Given the description of an element on the screen output the (x, y) to click on. 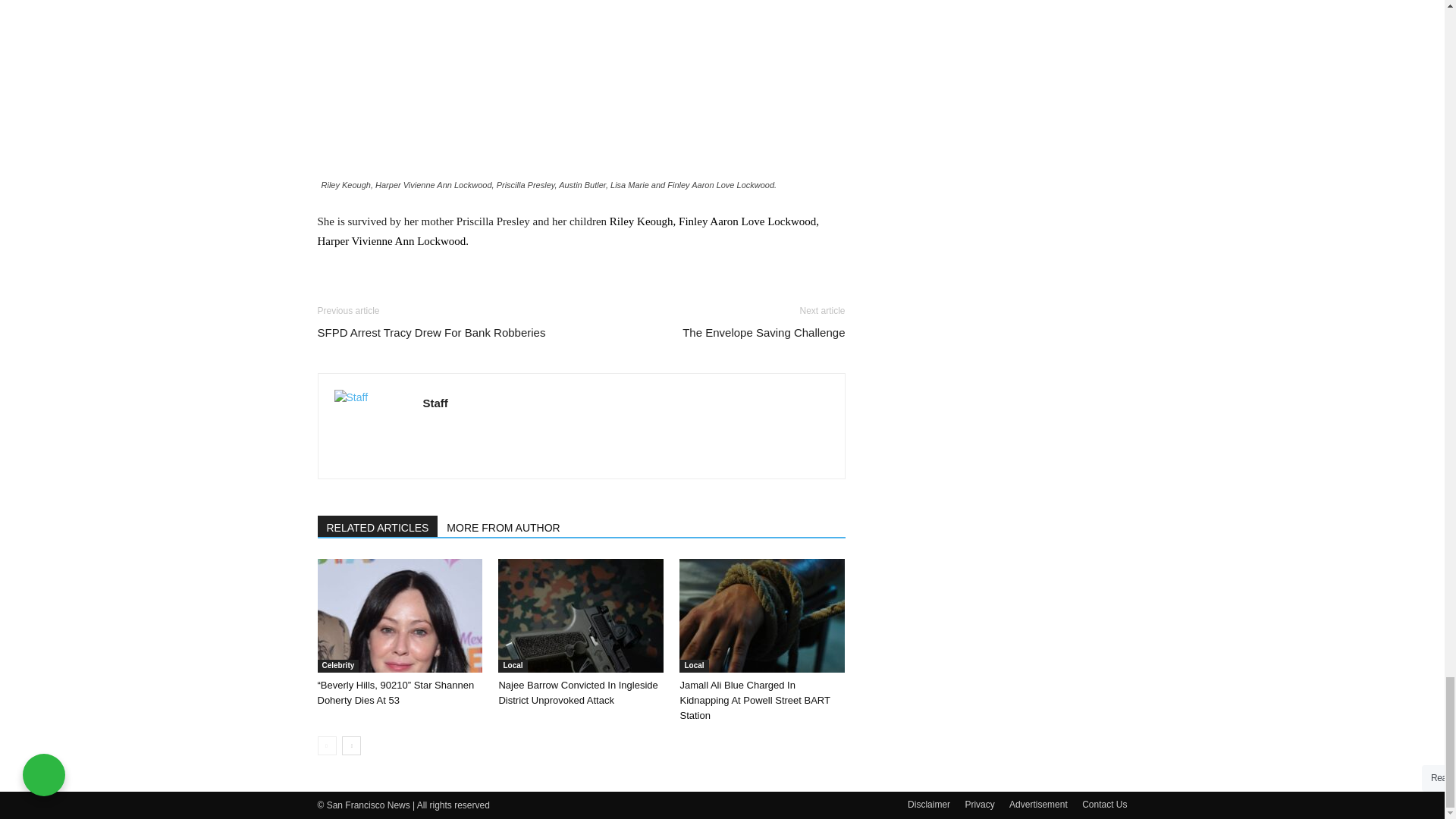
bottomFacebookLike (430, 290)
